Given the description of an element on the screen output the (x, y) to click on. 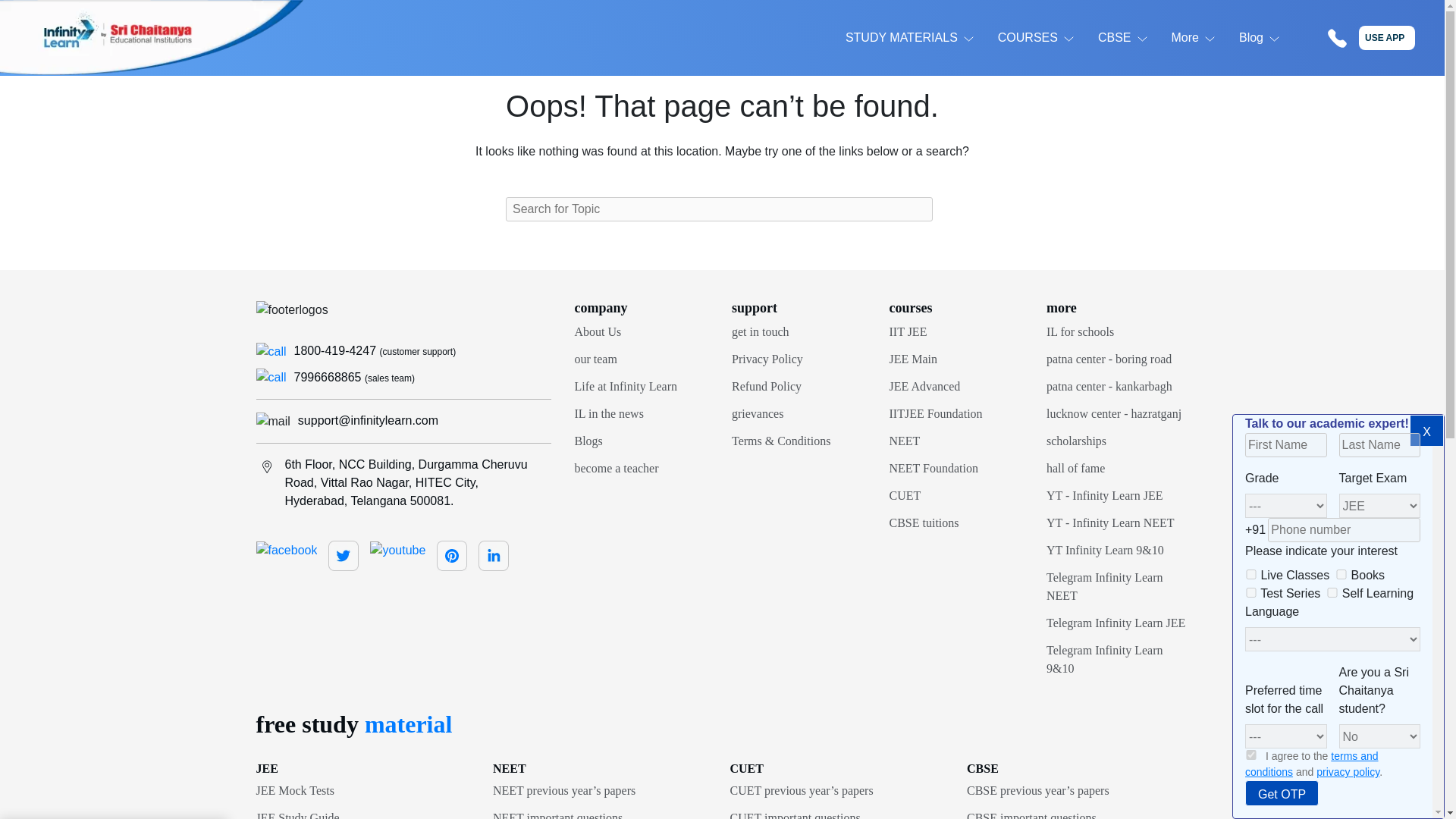
1 (1250, 755)
Self Learning (1332, 592)
Books (1341, 574)
Get OTP (1281, 792)
Live Classes (1250, 574)
Search for Topic (719, 209)
Test Series (1250, 592)
STUDY MATERIALS (901, 37)
Infinity Learn by Sri Chaitanya (151, 38)
